Given the description of an element on the screen output the (x, y) to click on. 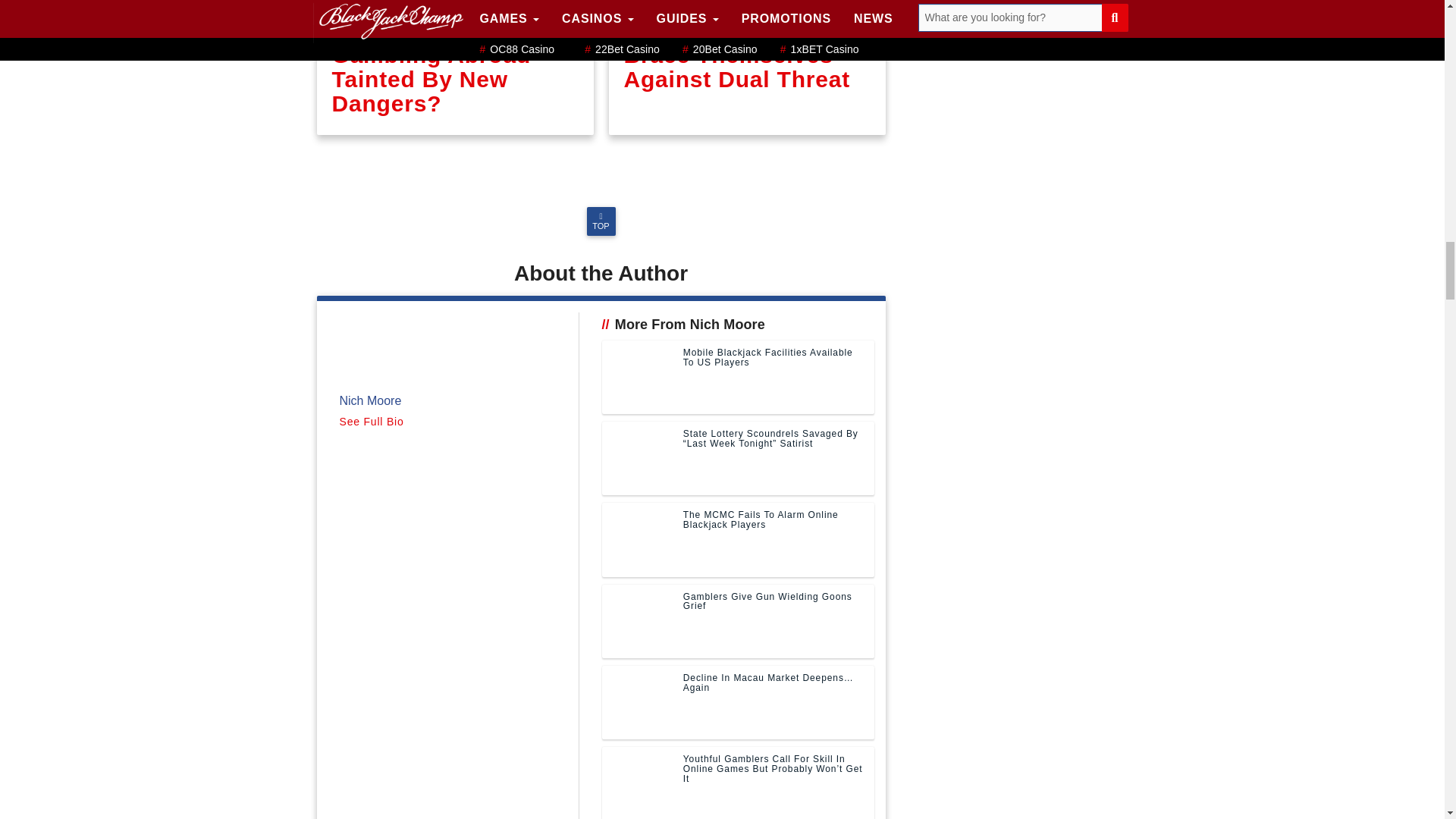
Is The Image Of Gambling Abroad Tainted By New Dangers? (455, 67)
News (339, 5)
